Given the description of an element on the screen output the (x, y) to click on. 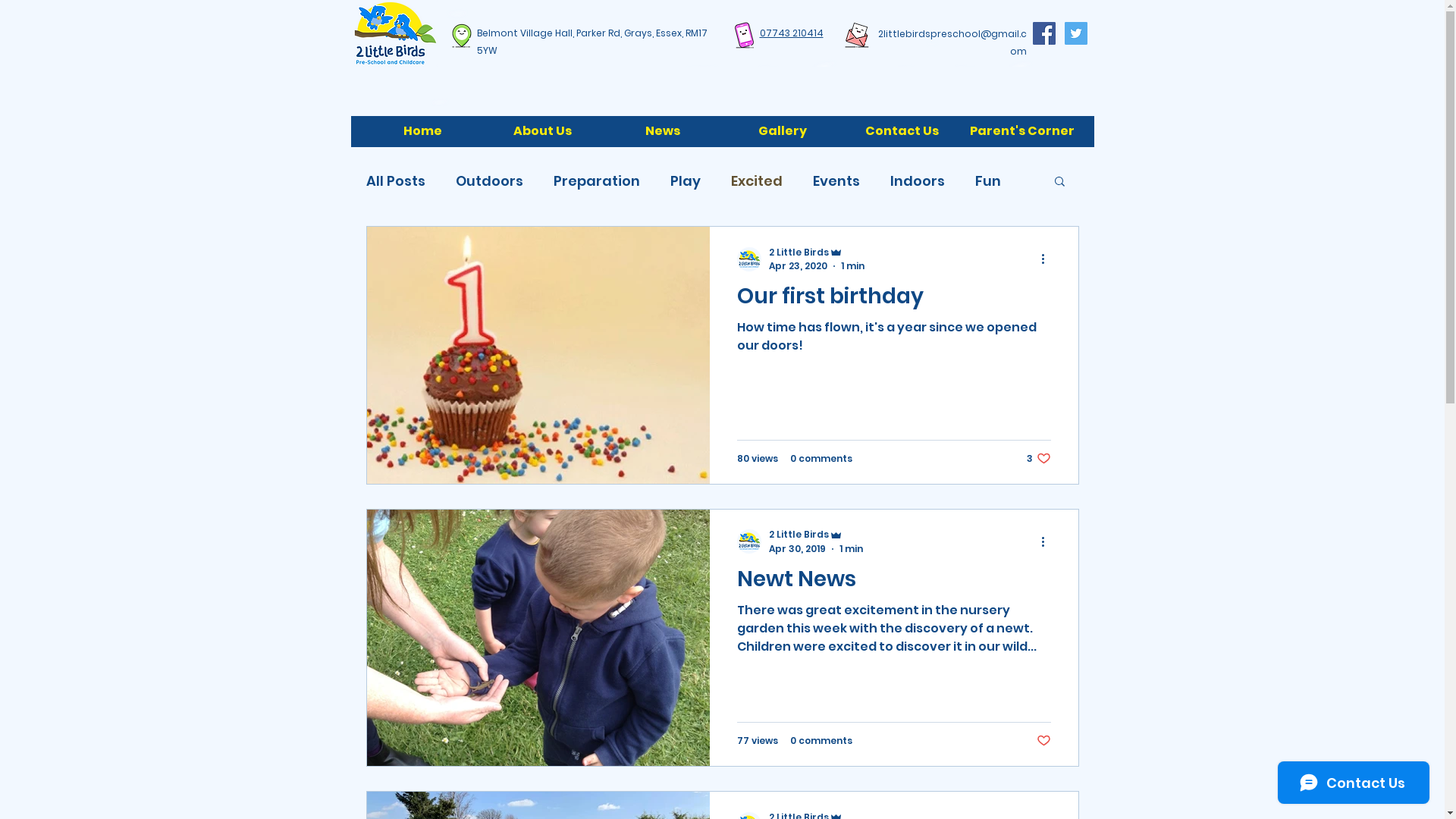
About Us Element type: text (542, 130)
Indoors Element type: text (917, 179)
Events Element type: text (835, 179)
Newt News Element type: text (894, 582)
Outdoors Element type: text (488, 179)
Excited Element type: text (756, 179)
News Element type: text (661, 130)
2littlebirdspreschool@gmail.com Element type: text (952, 42)
Preparation Element type: text (596, 179)
Fun Element type: text (988, 179)
All Posts Element type: text (394, 179)
Home Element type: text (422, 130)
3 likes. Post not marked as liked
3 Element type: text (1038, 458)
0 comments Element type: text (821, 458)
0 comments Element type: text (821, 740)
Parent's Corner Element type: text (1021, 130)
07743 210414 Element type: text (791, 32)
Gallery Element type: text (781, 130)
Contact Us Element type: text (901, 130)
Play Element type: text (685, 179)
2 Little Birds Element type: text (816, 251)
Post not marked as liked Element type: text (1042, 740)
2 Little Birds Element type: text (815, 534)
Our first birthday Element type: text (894, 300)
Belmont Village Hall, Parker Rd, Grays, Essex, RM17 5YW Element type: text (591, 41)
